Given the description of an element on the screen output the (x, y) to click on. 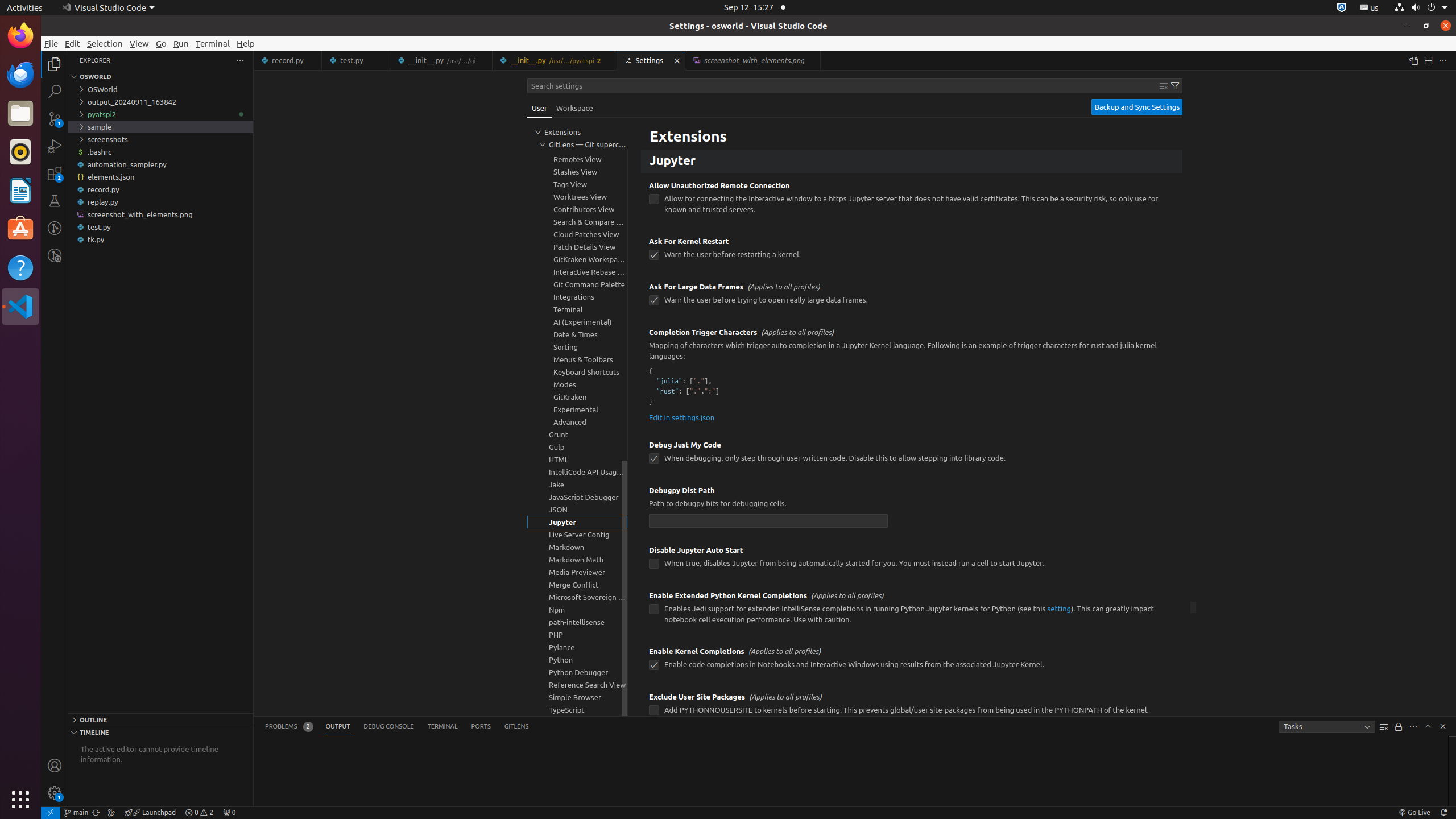
Run Element type: push-button (181, 43)
Debug Console (Ctrl+Shift+Y) Element type: page-tab (388, 726)
Manage - New Code update available. Element type: push-button (54, 792)
Ports Element type: page-tab (480, 726)
Clear Output Element type: push-button (1383, 726)
